Given the description of an element on the screen output the (x, y) to click on. 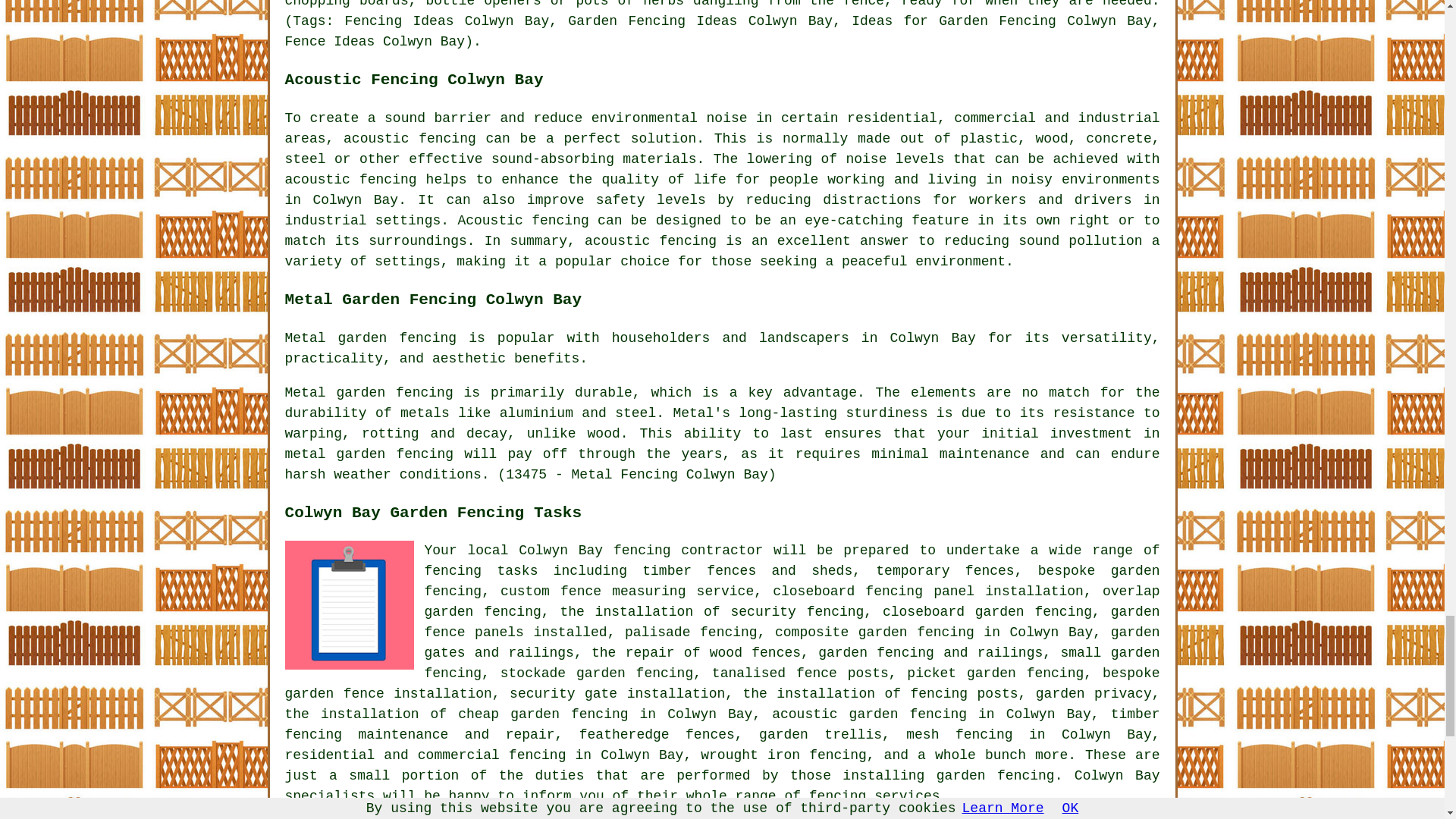
acoustic fencing (350, 179)
fencing contractor (687, 549)
Garden Fencing Tasks Colwyn Bay (349, 604)
